Given the description of an element on the screen output the (x, y) to click on. 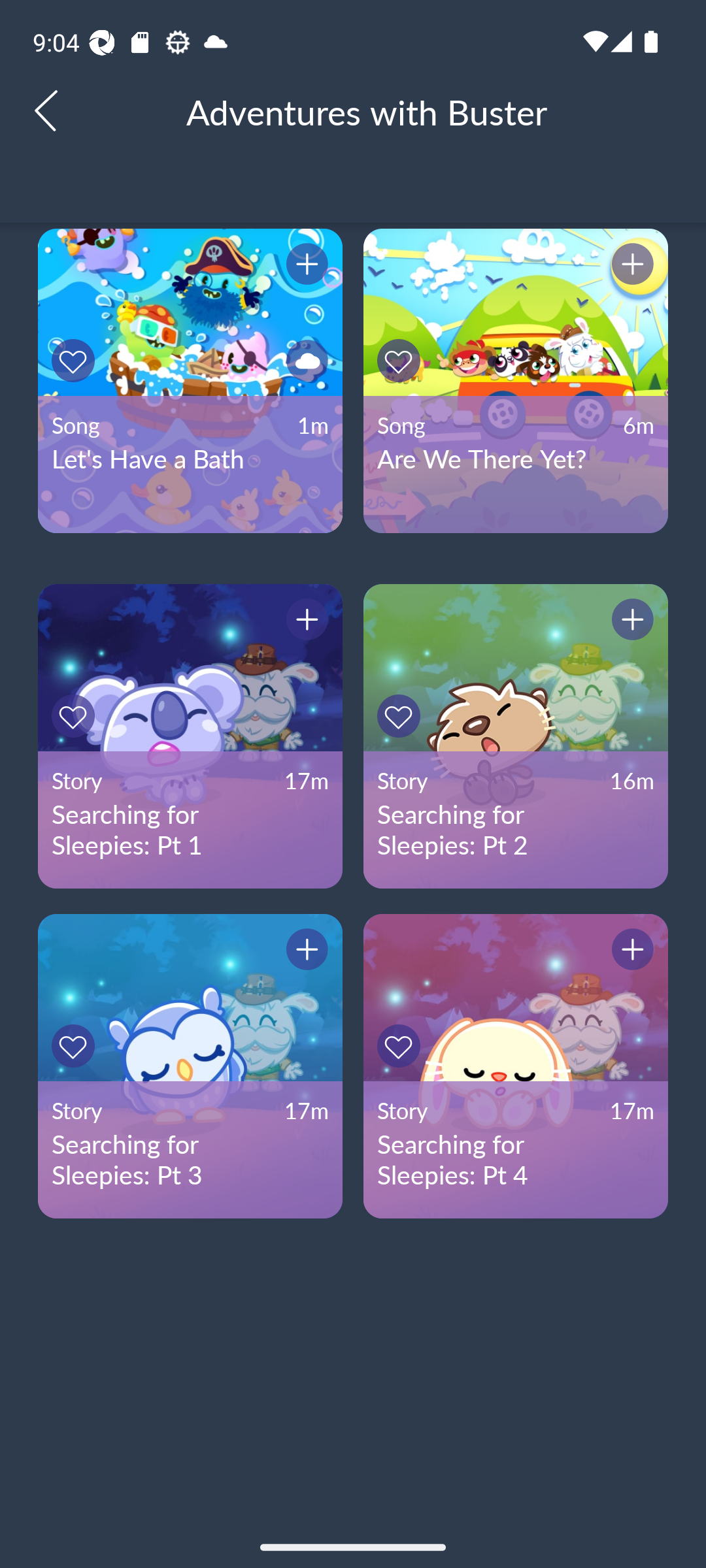
Button (304, 266)
Button (629, 266)
Button (76, 360)
Button (304, 360)
Button (401, 360)
Button (304, 621)
Button (629, 621)
Button (76, 715)
Button (401, 715)
Button (304, 952)
Button (629, 952)
Button (76, 1045)
Button (401, 1045)
